Given the description of an element on the screen output the (x, y) to click on. 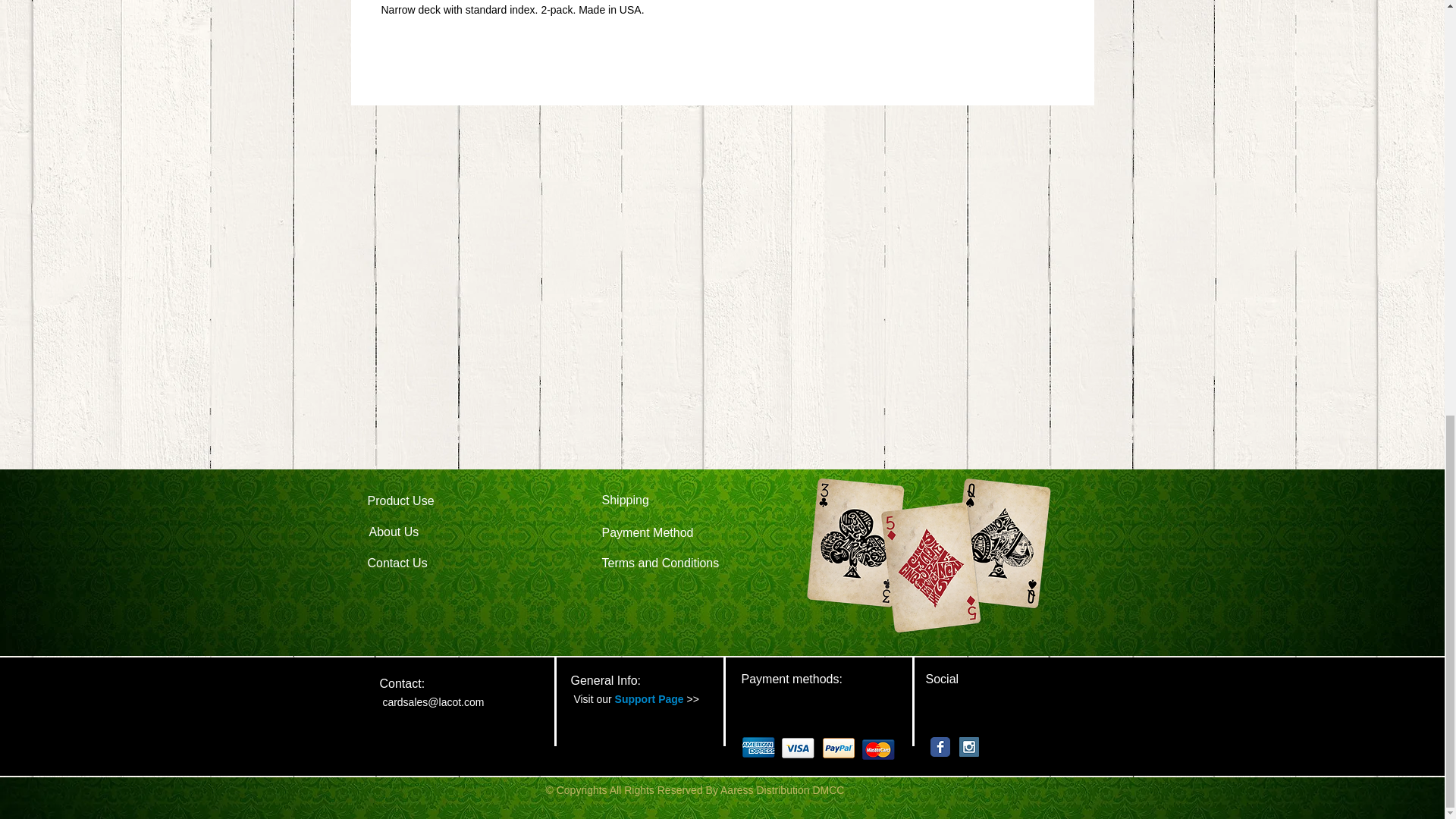
master.png (878, 749)
american.png (758, 747)
visa.png (797, 748)
paypal.png (839, 748)
